Given the description of an element on the screen output the (x, y) to click on. 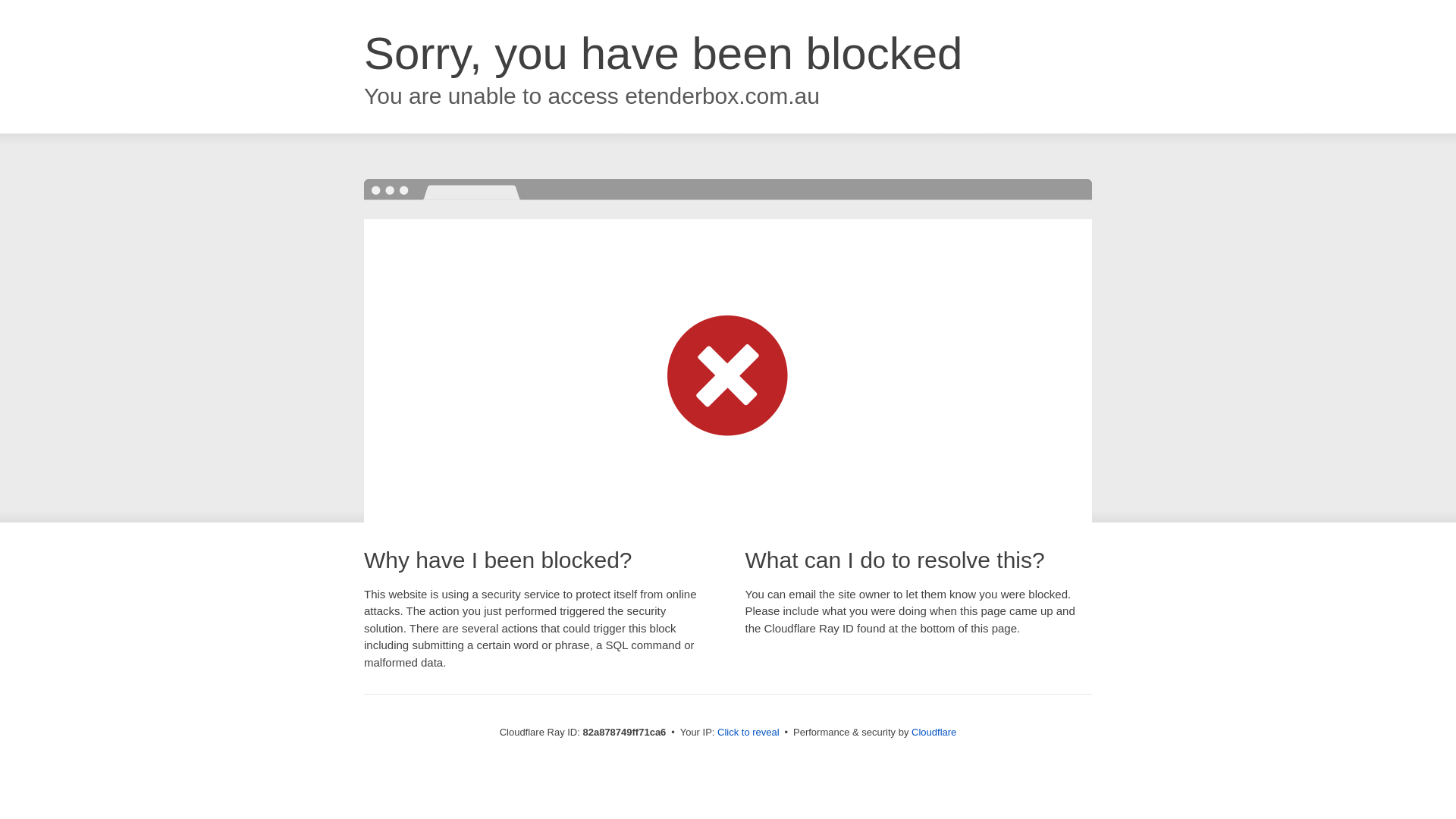
Click to reveal Element type: text (748, 732)
Cloudflare Element type: text (933, 731)
